Given the description of an element on the screen output the (x, y) to click on. 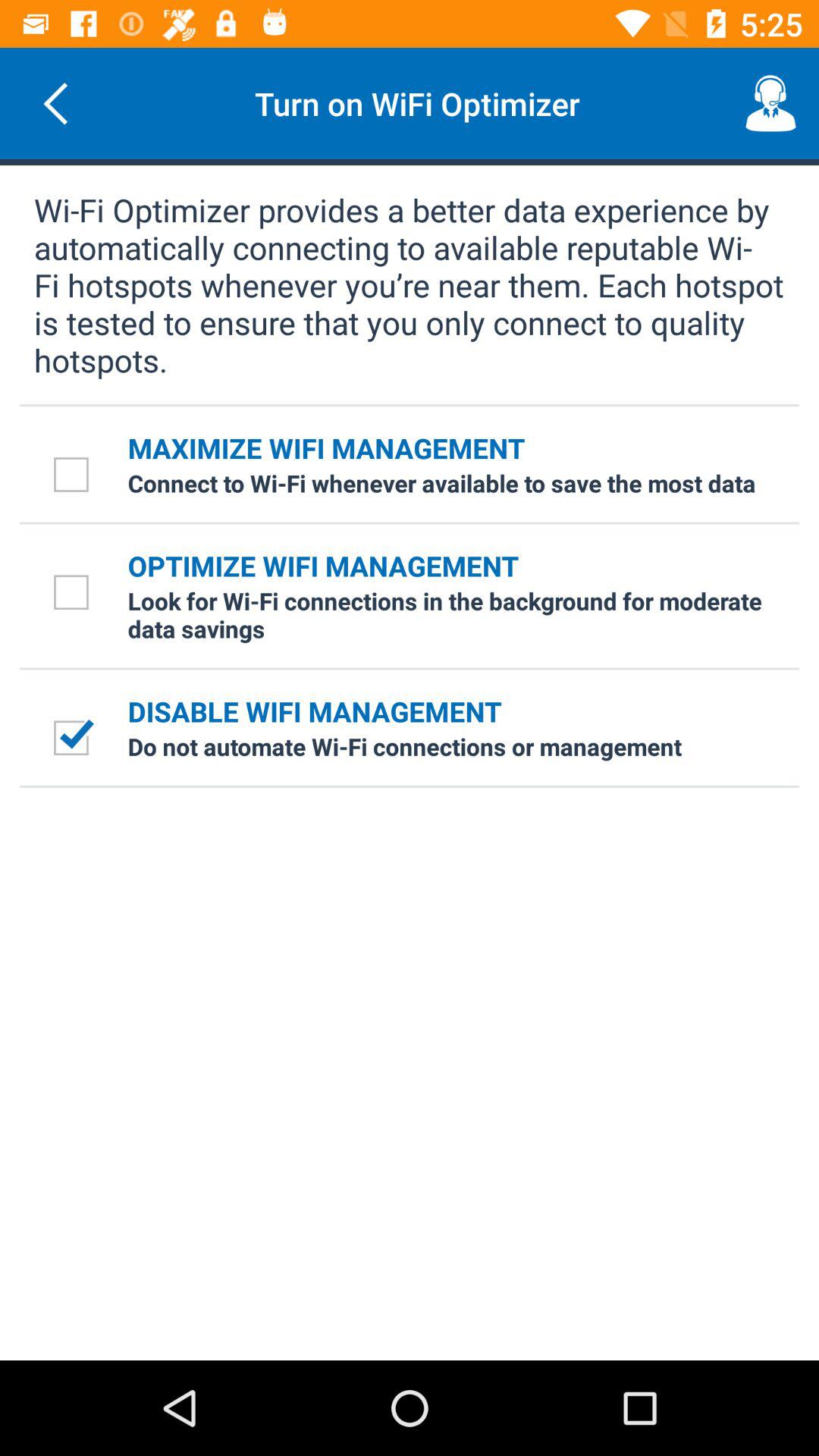
choose icon to the left of maximize wifi management item (73, 473)
